Given the description of an element on the screen output the (x, y) to click on. 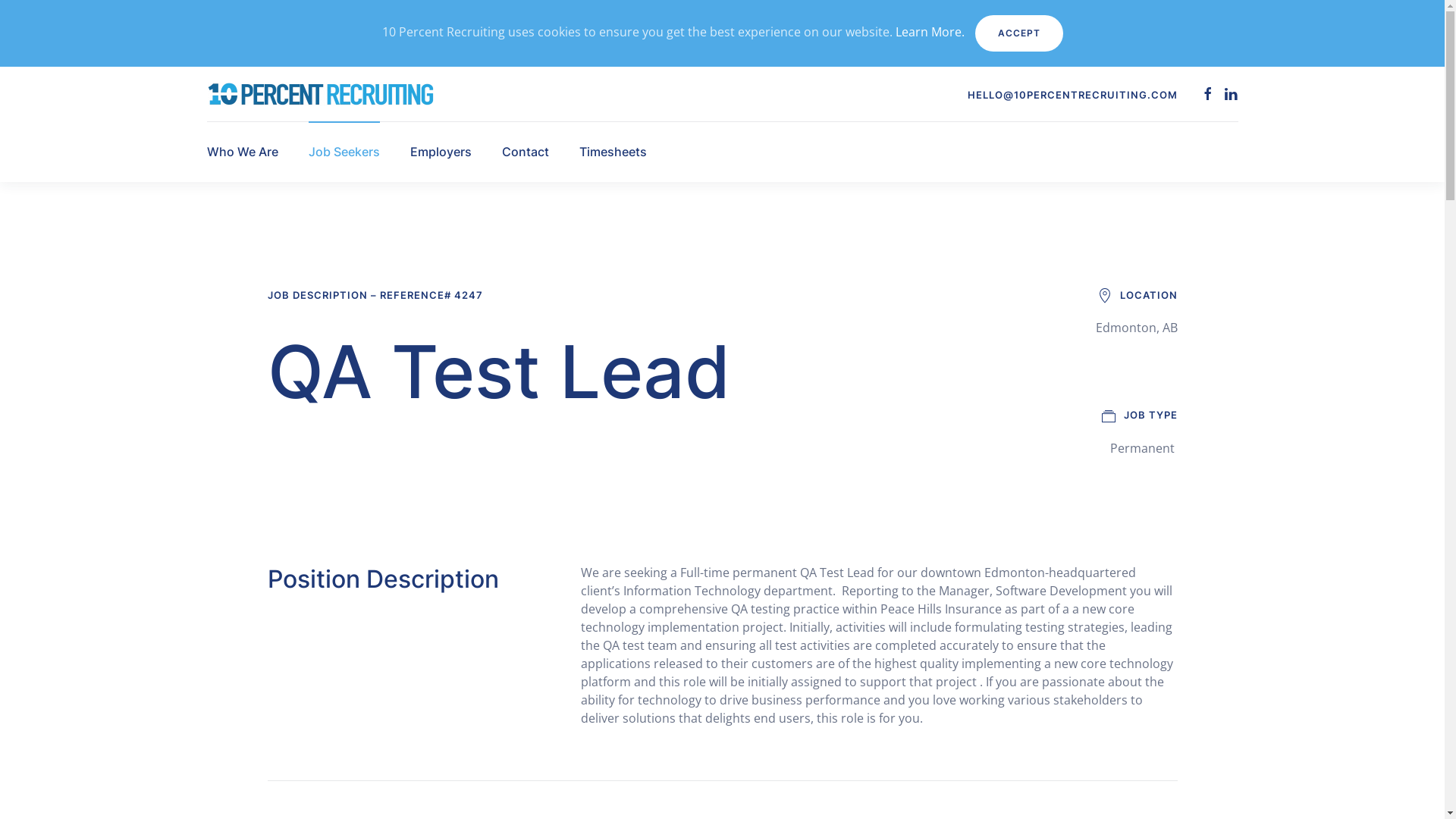
HELLO@10PERCENTRECRUITING.COM Element type: text (1072, 94)
Employers Element type: text (440, 151)
ACCEPT Element type: text (1019, 33)
Job Seekers Element type: text (343, 151)
Timesheets Element type: text (613, 151)
Contact Element type: text (525, 151)
Who We Are Element type: text (241, 151)
Learn More. Element type: text (928, 31)
